Given the description of an element on the screen output the (x, y) to click on. 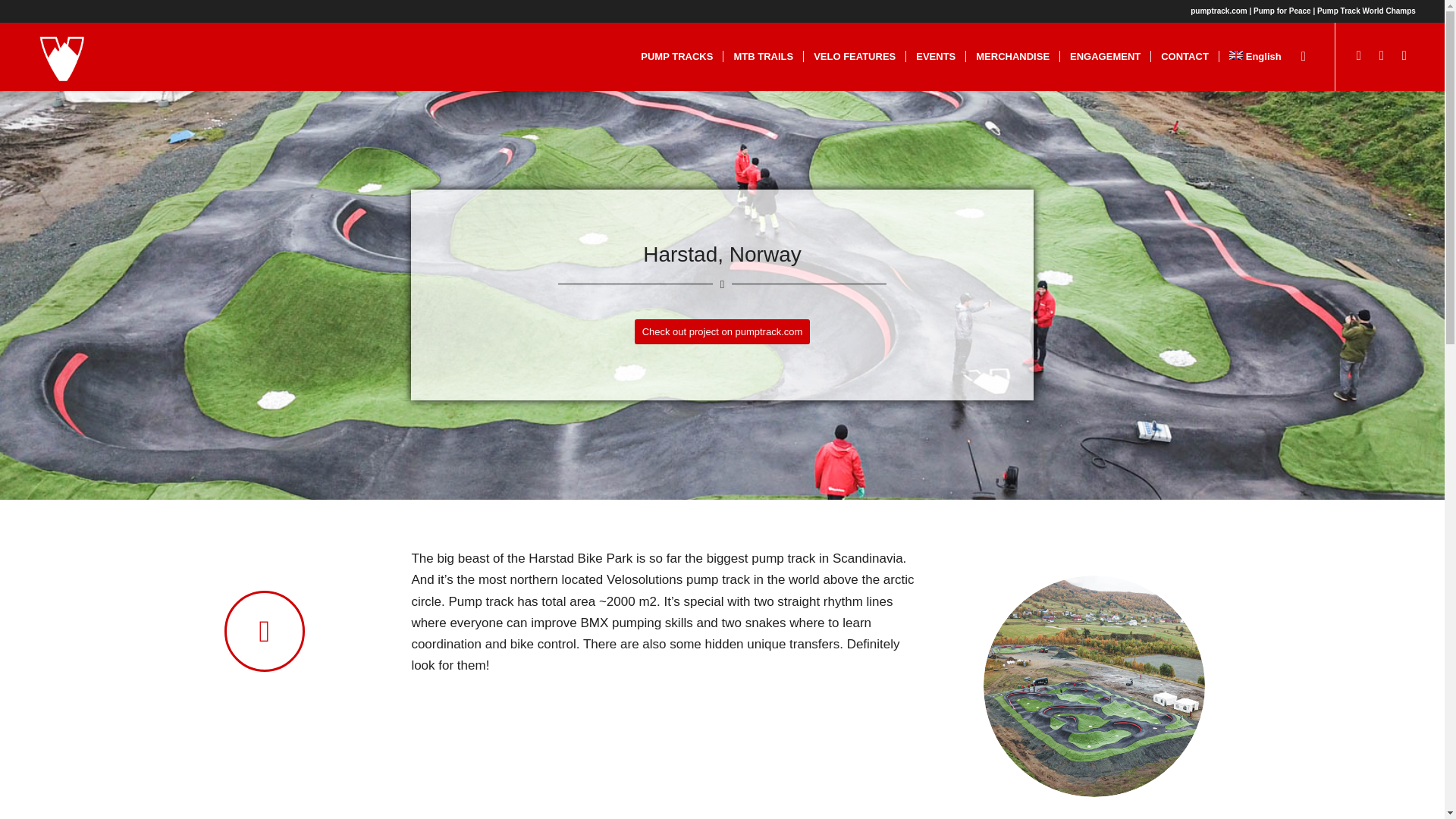
MTB TRAILS (762, 56)
English (1254, 56)
ENGAGEMENT (1104, 56)
VELO FEATURES (854, 56)
Instagram (1359, 56)
PUMP TRACKS (676, 56)
Pump for Peace (1282, 10)
MERCHANDISE (1012, 56)
English (1254, 56)
Pump Track World Champs (1366, 10)
pumptrack.com (1218, 10)
CONTACT (1184, 56)
